Given the description of an element on the screen output the (x, y) to click on. 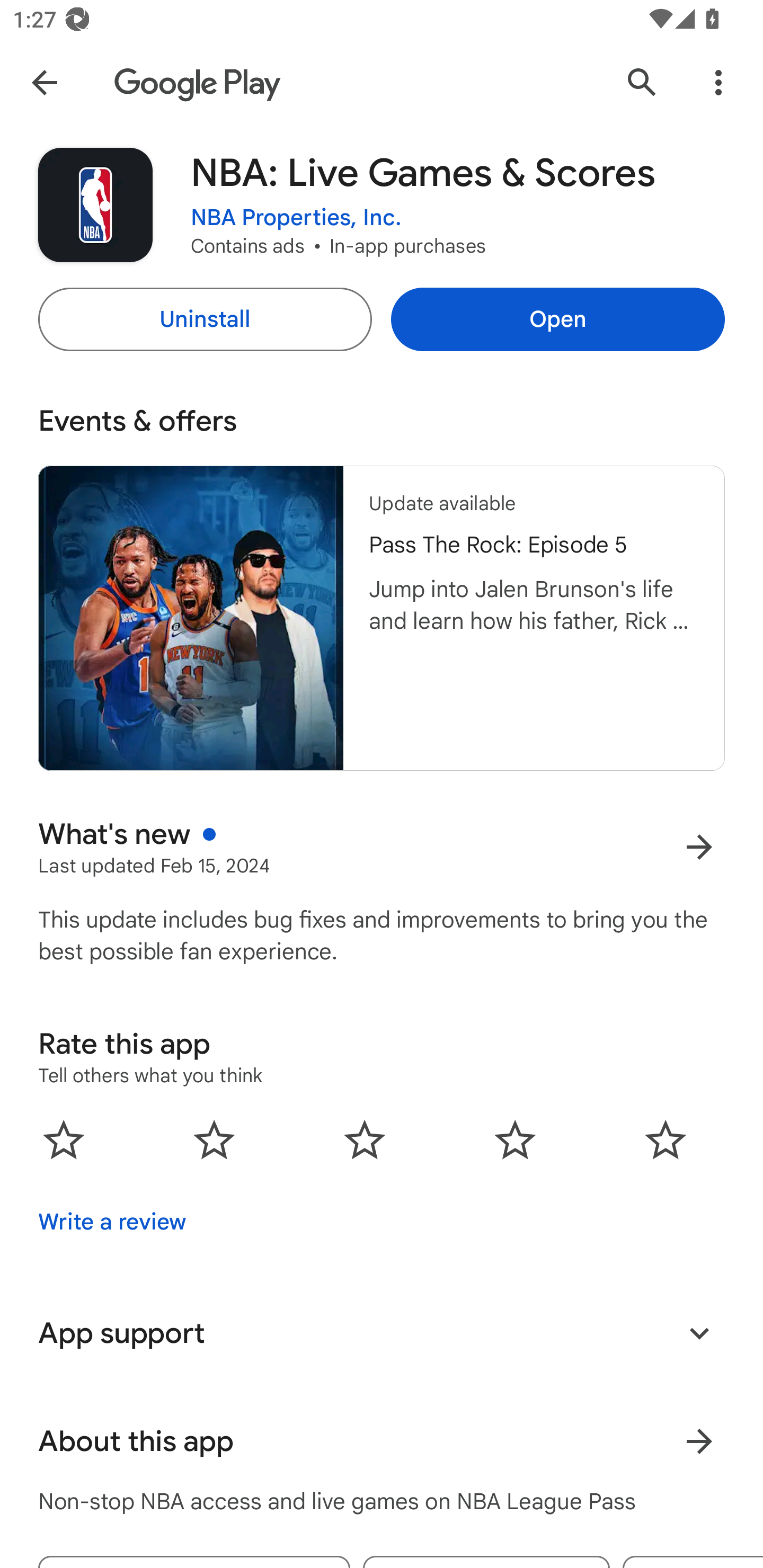
Navigate up (44, 81)
Search Google Play (642, 81)
More Options (718, 81)
NBA Properties, Inc. (295, 217)
Uninstall (205, 318)
Open (557, 318)
More results for What's new (699, 847)
0.0 (364, 1138)
Write a review (112, 1221)
App support Expand (381, 1333)
Expand (699, 1333)
About this app Learn more About this app (381, 1441)
Learn more About this app (699, 1441)
